Given the description of an element on the screen output the (x, y) to click on. 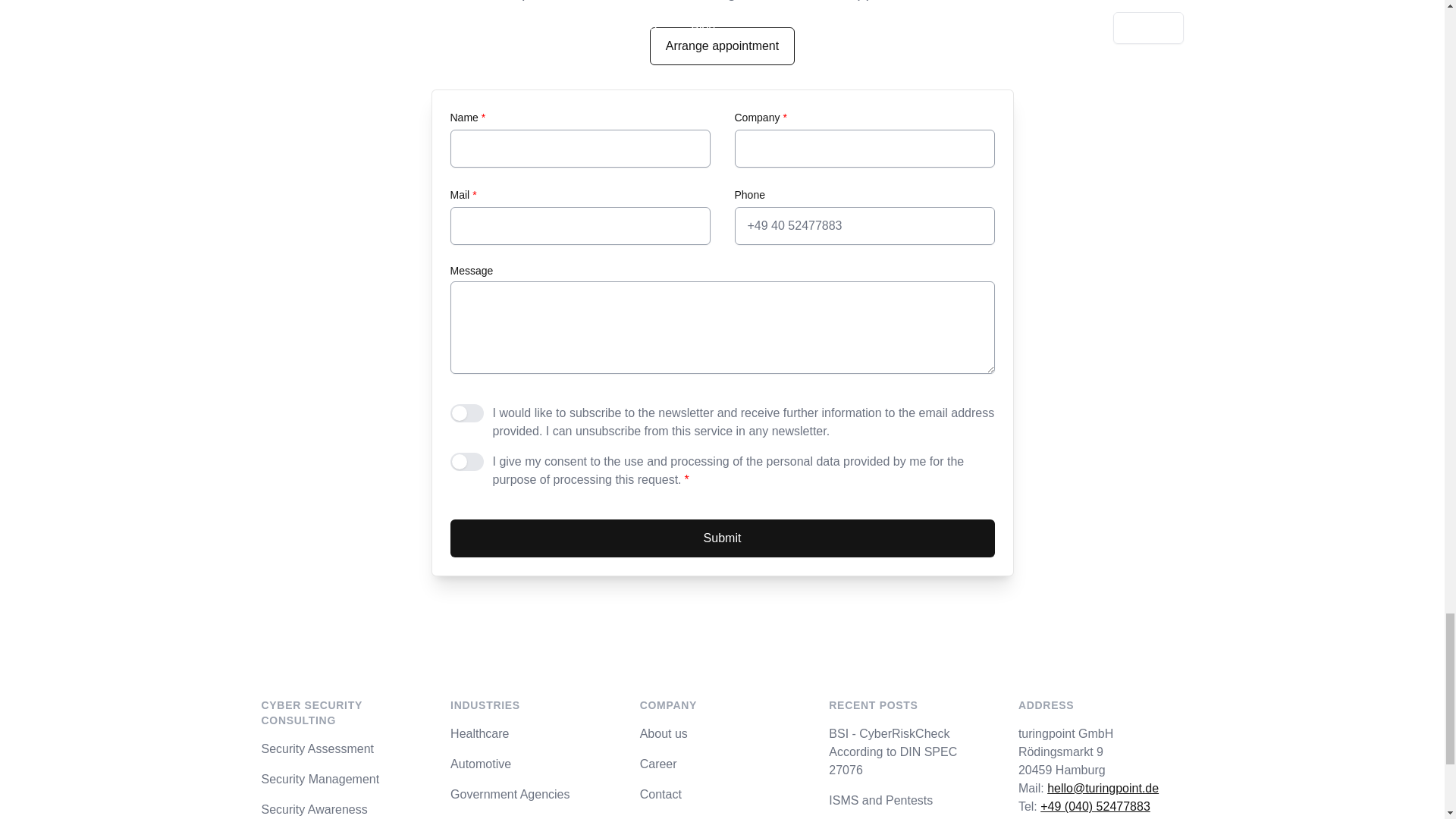
Security Assessment (343, 749)
Contact (722, 794)
Security Awareness (343, 809)
About us (722, 733)
Government Agencies (532, 794)
Arrange appointment (721, 46)
Career (722, 764)
Automotive (532, 764)
Security Management (343, 779)
Finance (532, 817)
